Given the description of an element on the screen output the (x, y) to click on. 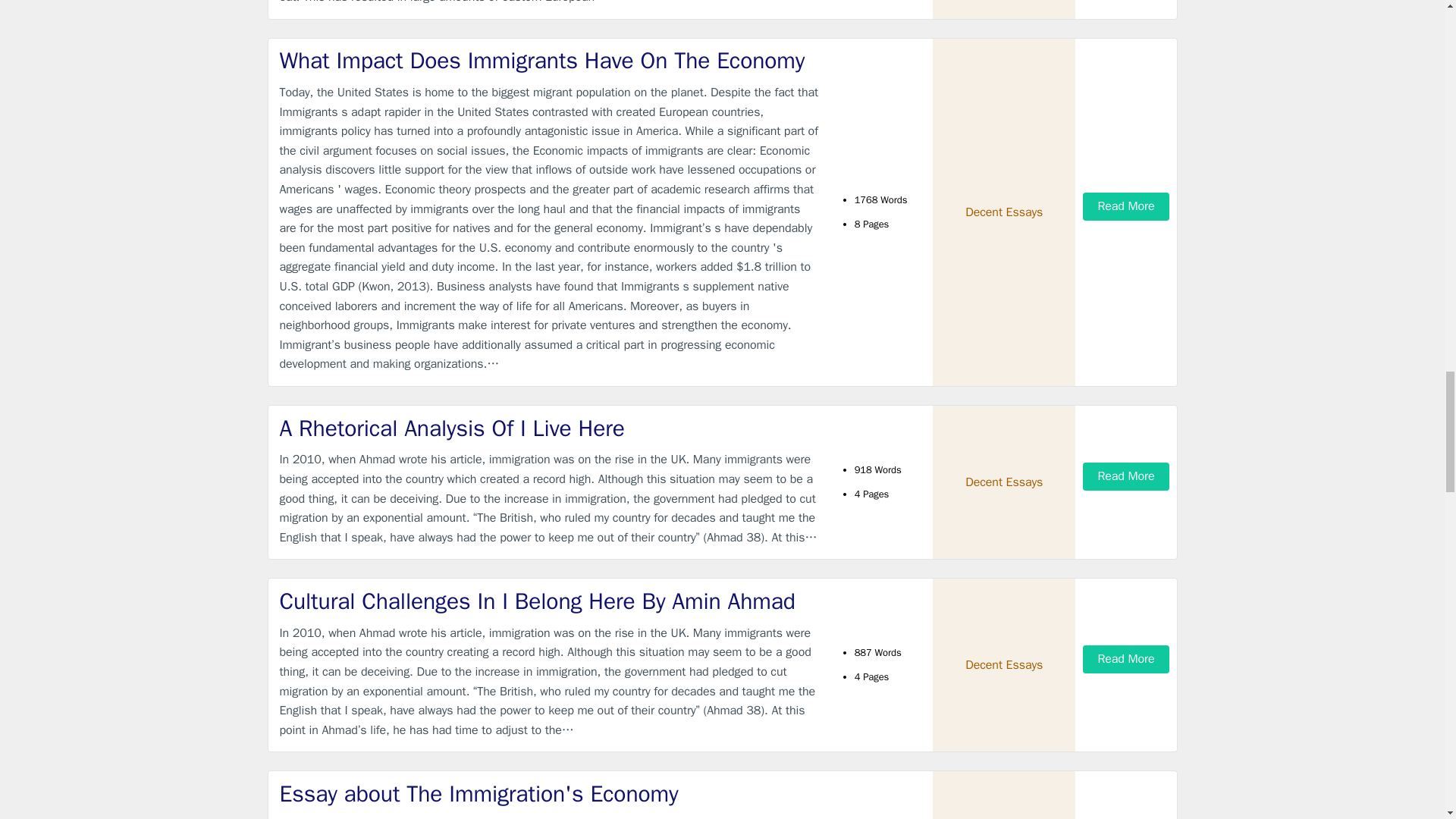
Cultural Challenges In I Belong Here By Amin Ahmad (548, 601)
Read More (1126, 476)
Read More (1126, 659)
Read More (1126, 206)
Essay about The Immigration's Economy (548, 793)
What Impact Does Immigrants Have On The Economy (548, 60)
A Rhetorical Analysis Of I Live Here (548, 428)
